Given the description of an element on the screen output the (x, y) to click on. 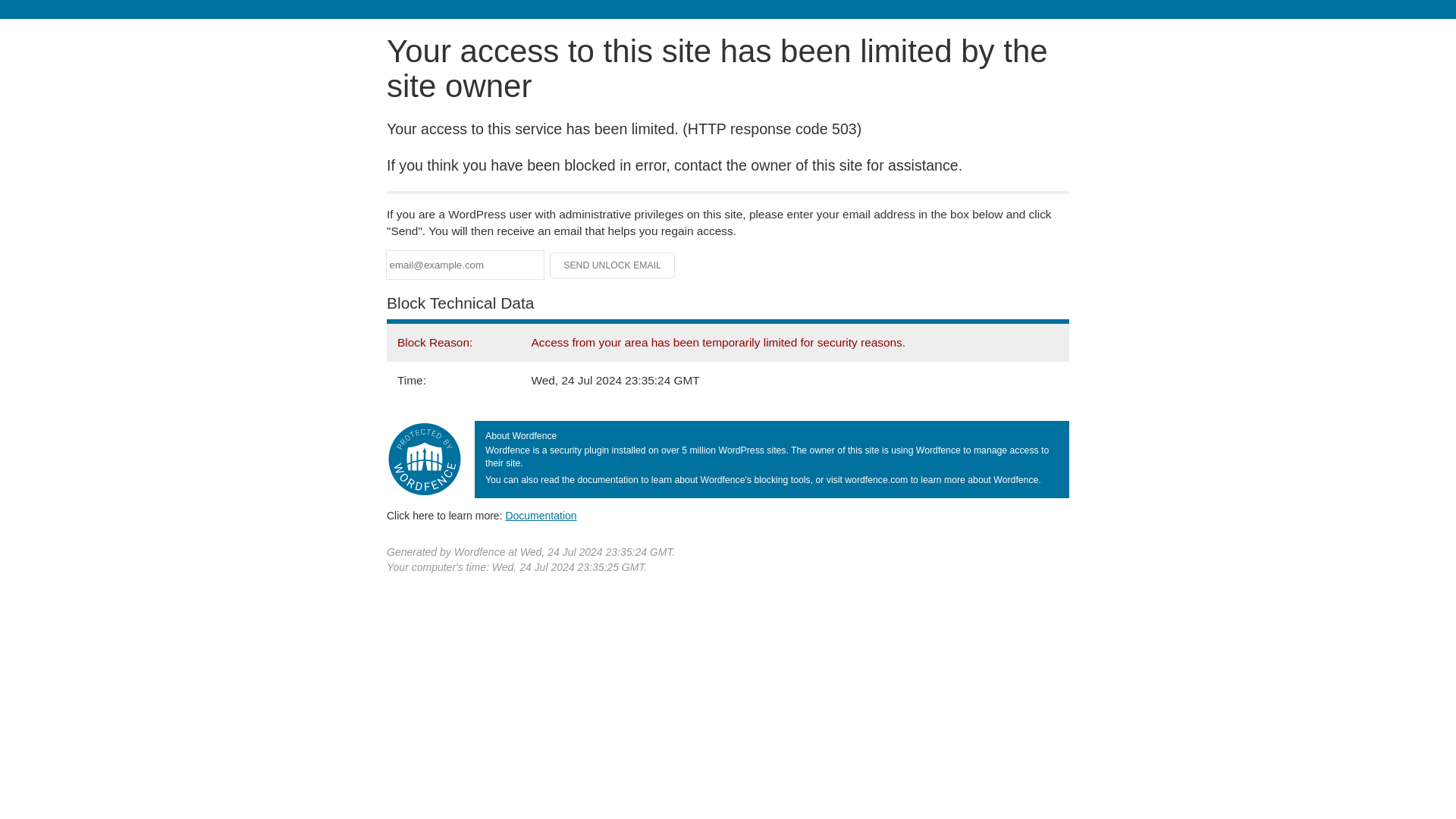
Documentation (540, 515)
Send Unlock Email (612, 265)
Send Unlock Email (612, 265)
